Given the description of an element on the screen output the (x, y) to click on. 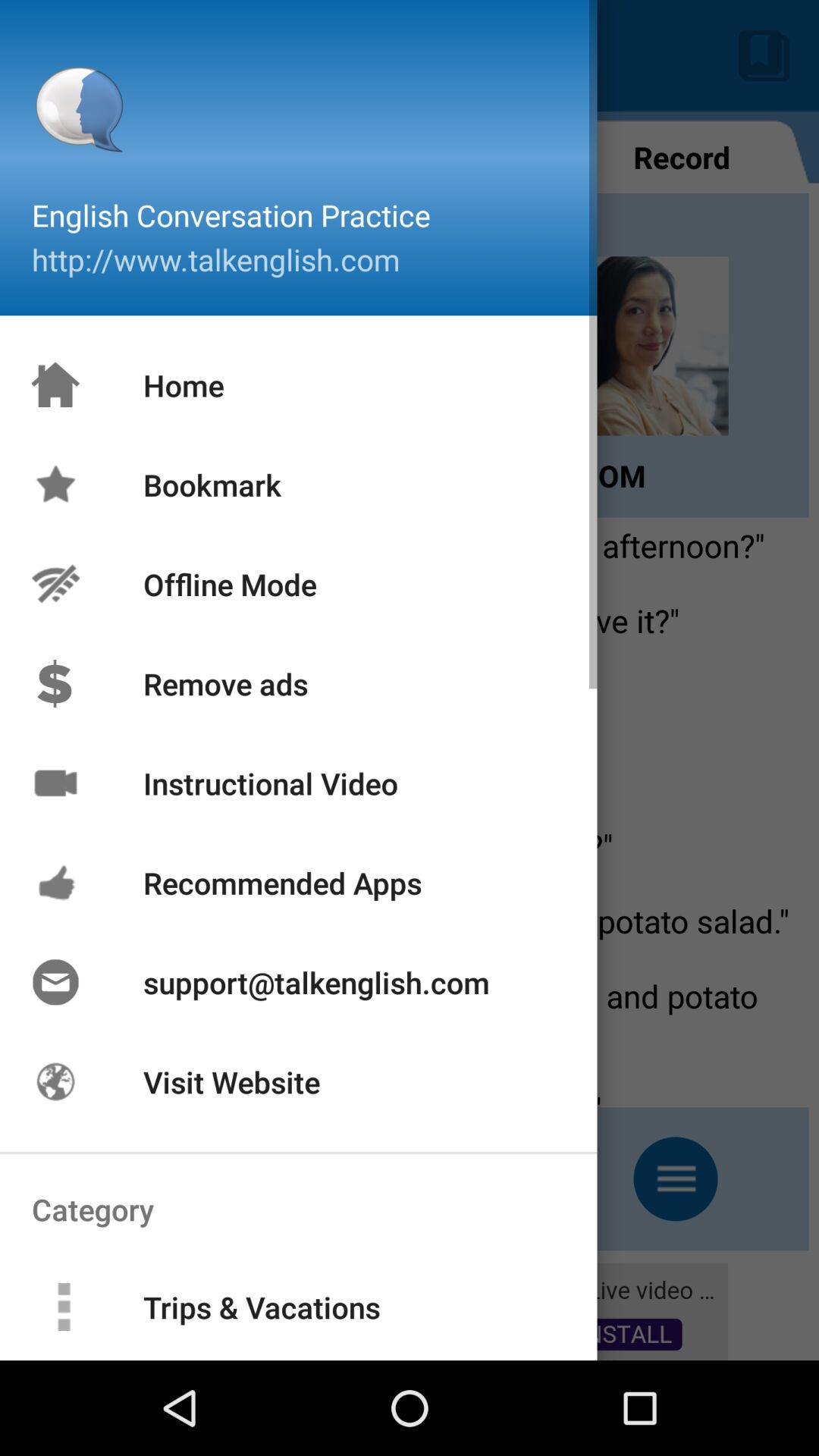
click on the button which is on the top right corner of the page (764, 55)
